Given the description of an element on the screen output the (x, y) to click on. 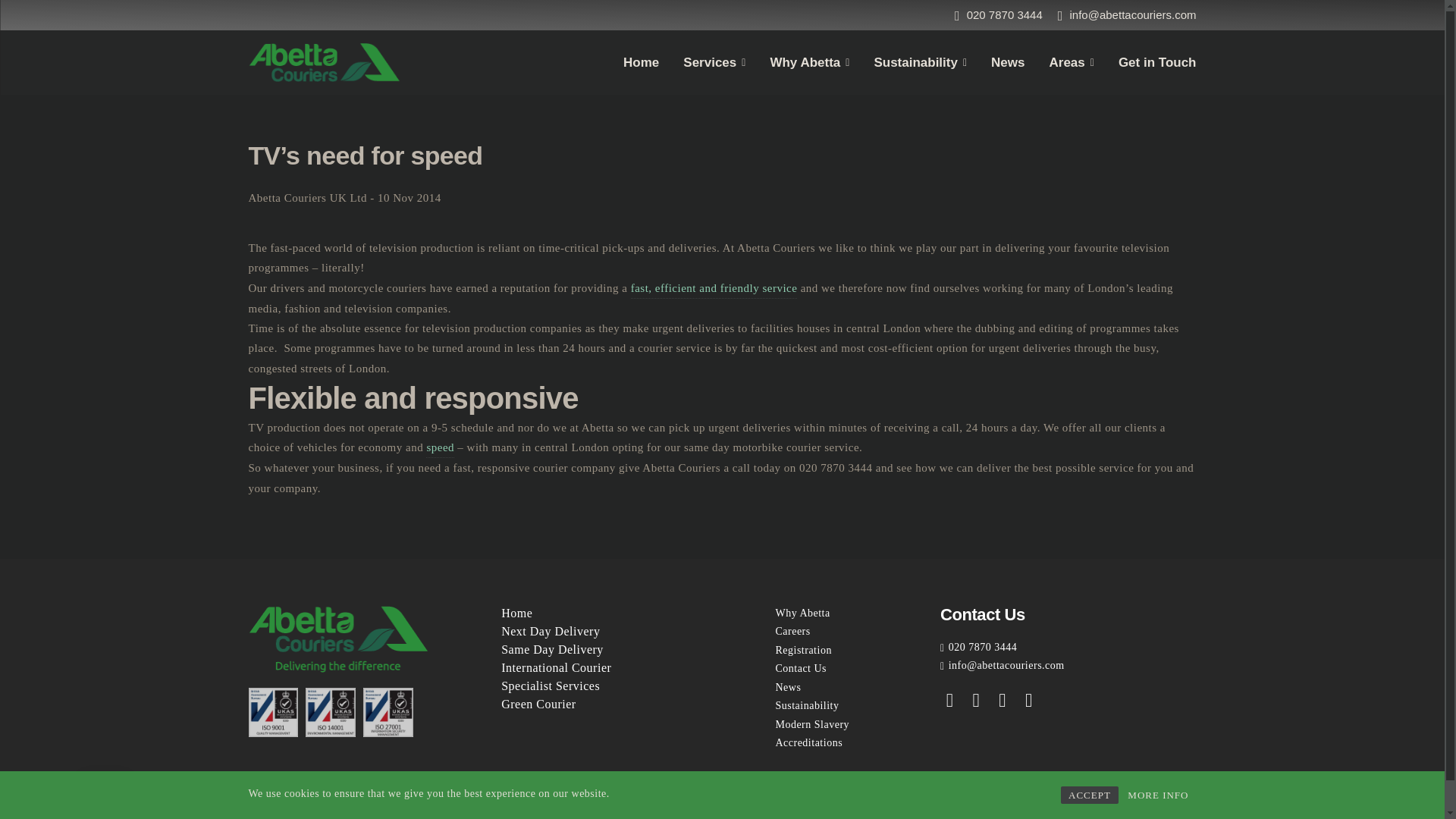
Speedy Same Day Delivery Services (440, 447)
Abetta Courier Services (713, 288)
ACCEPT (1089, 794)
MORE INFO (1157, 794)
